Given the description of an element on the screen output the (x, y) to click on. 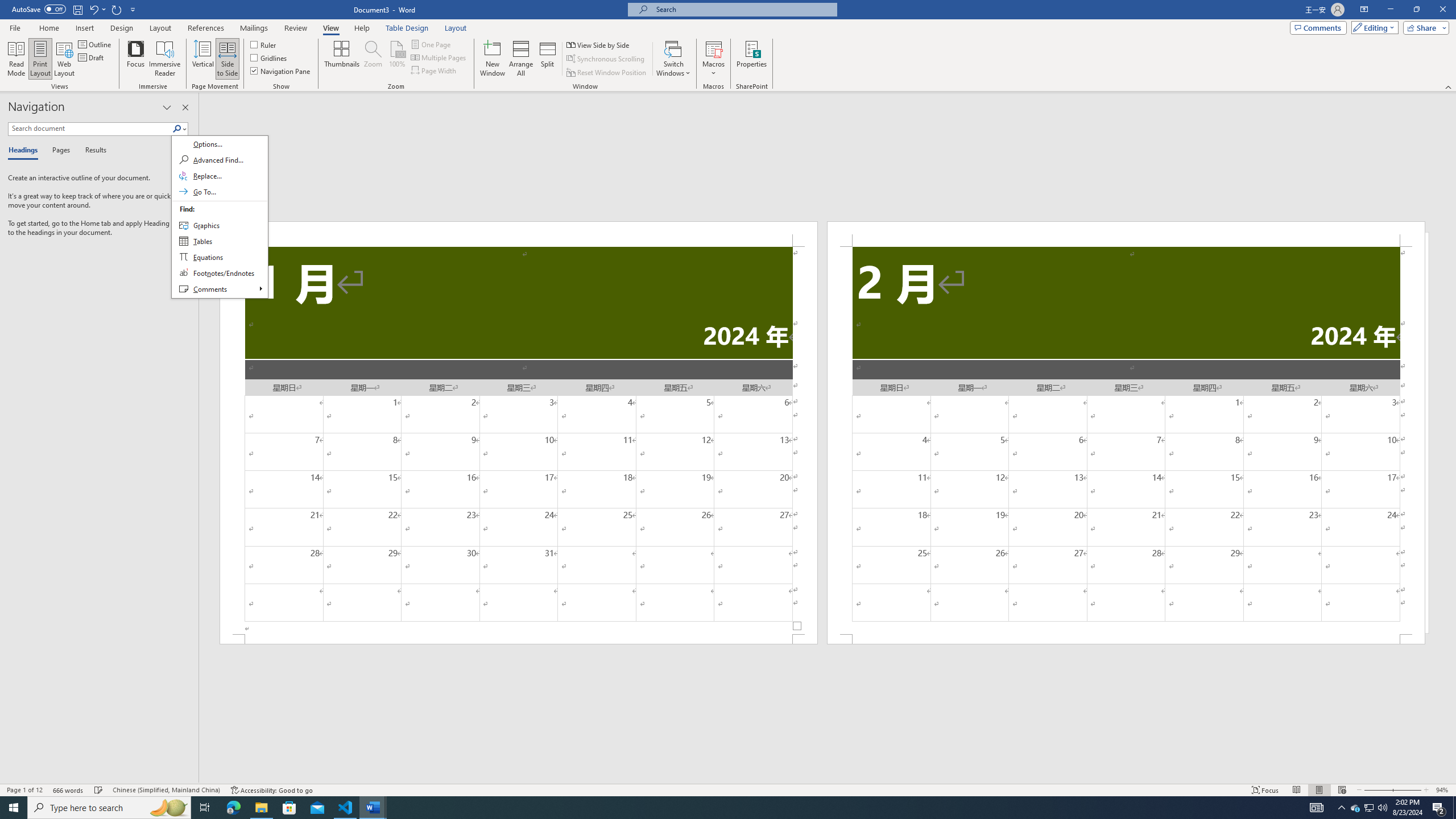
AutomationID: 4105 (1316, 807)
View Side by Side (598, 44)
Properties (751, 58)
Immersive Reader (165, 58)
Home (48, 28)
Close pane (185, 107)
100% (396, 58)
Arrange All (521, 58)
New Window (492, 58)
Show desktop (1454, 807)
Task Pane Options (167, 107)
Microsoft Store (289, 807)
One Page (431, 44)
